Given the description of an element on the screen output the (x, y) to click on. 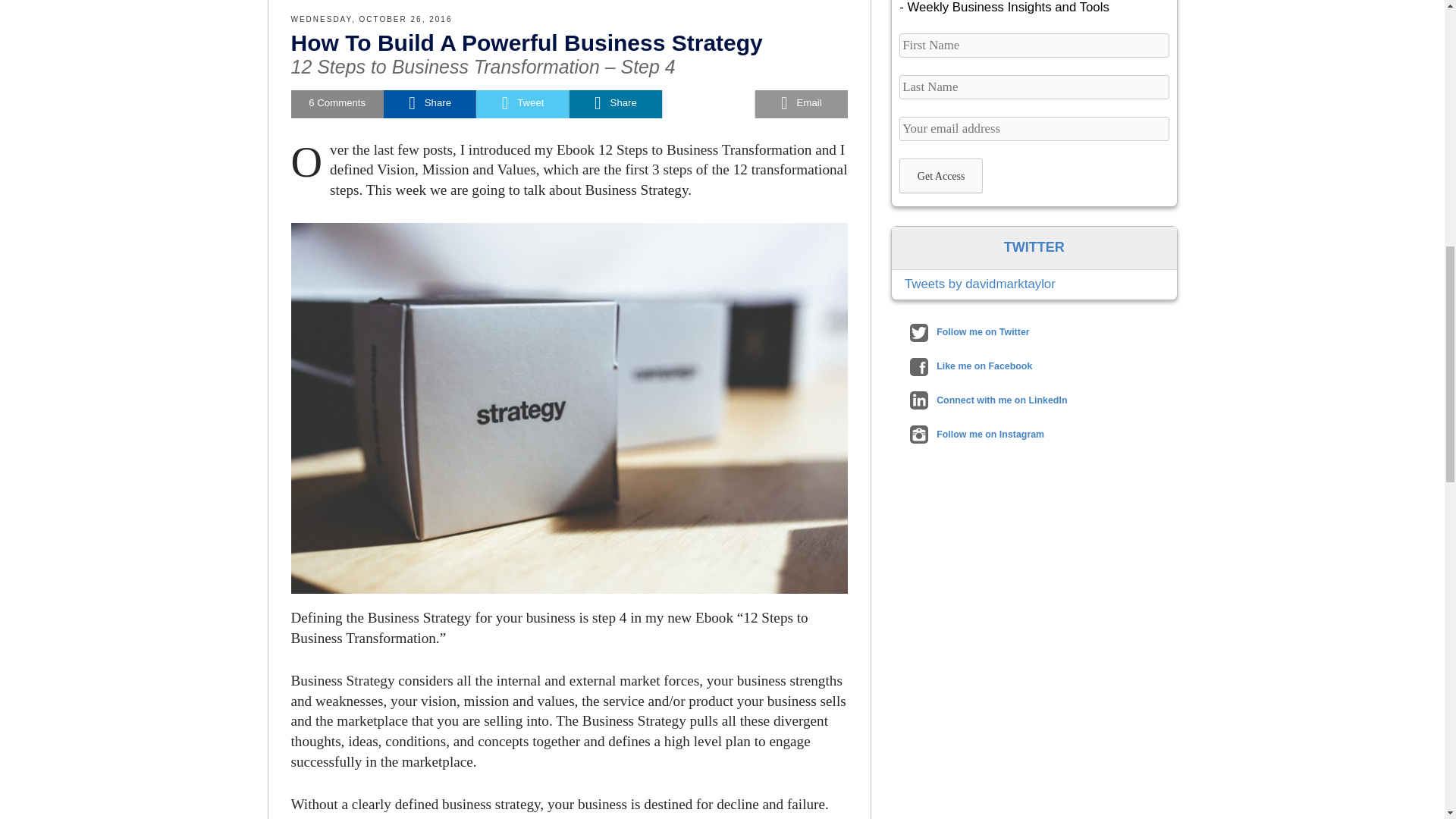
Share (430, 103)
Tweet this Post (522, 103)
Share on Facebook (430, 103)
Share on LinkedIn (615, 103)
Get Access (940, 175)
How To Build A Powerful Business Strategy (526, 42)
Comment on this Post (337, 103)
6 Comments (337, 103)
Permalink to How To Build A Powerful Business Strategy (526, 42)
Share (615, 103)
Tweet (522, 103)
Email (801, 103)
